Given the description of an element on the screen output the (x, y) to click on. 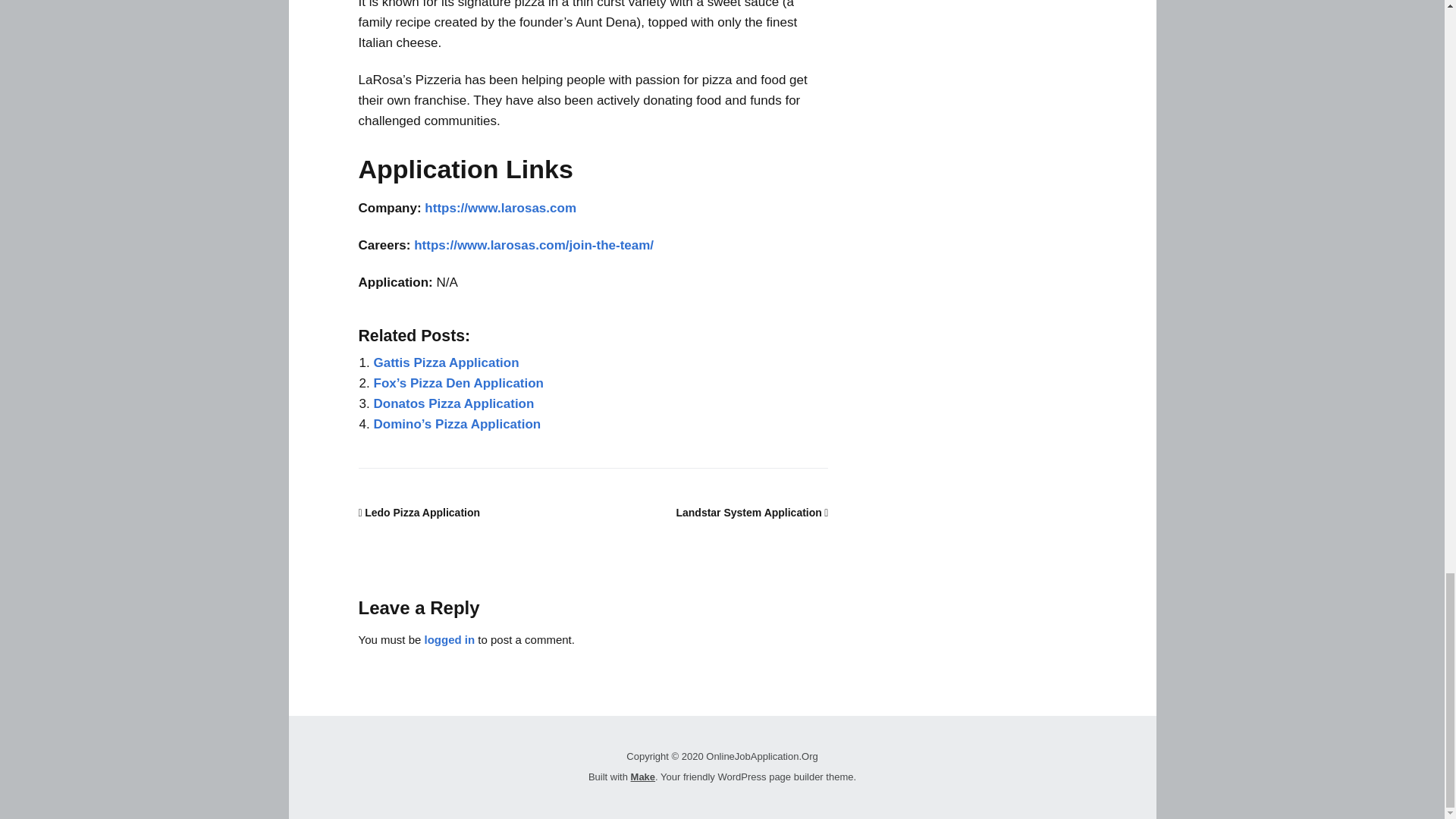
Make (643, 776)
Gattis Pizza Application (445, 362)
logged in (450, 639)
Gattis Pizza Application (445, 362)
Ledo Pizza Application (419, 512)
Landstar System Application (751, 512)
Donatos Pizza Application (453, 403)
Donatos Pizza Application (453, 403)
